Given the description of an element on the screen output the (x, y) to click on. 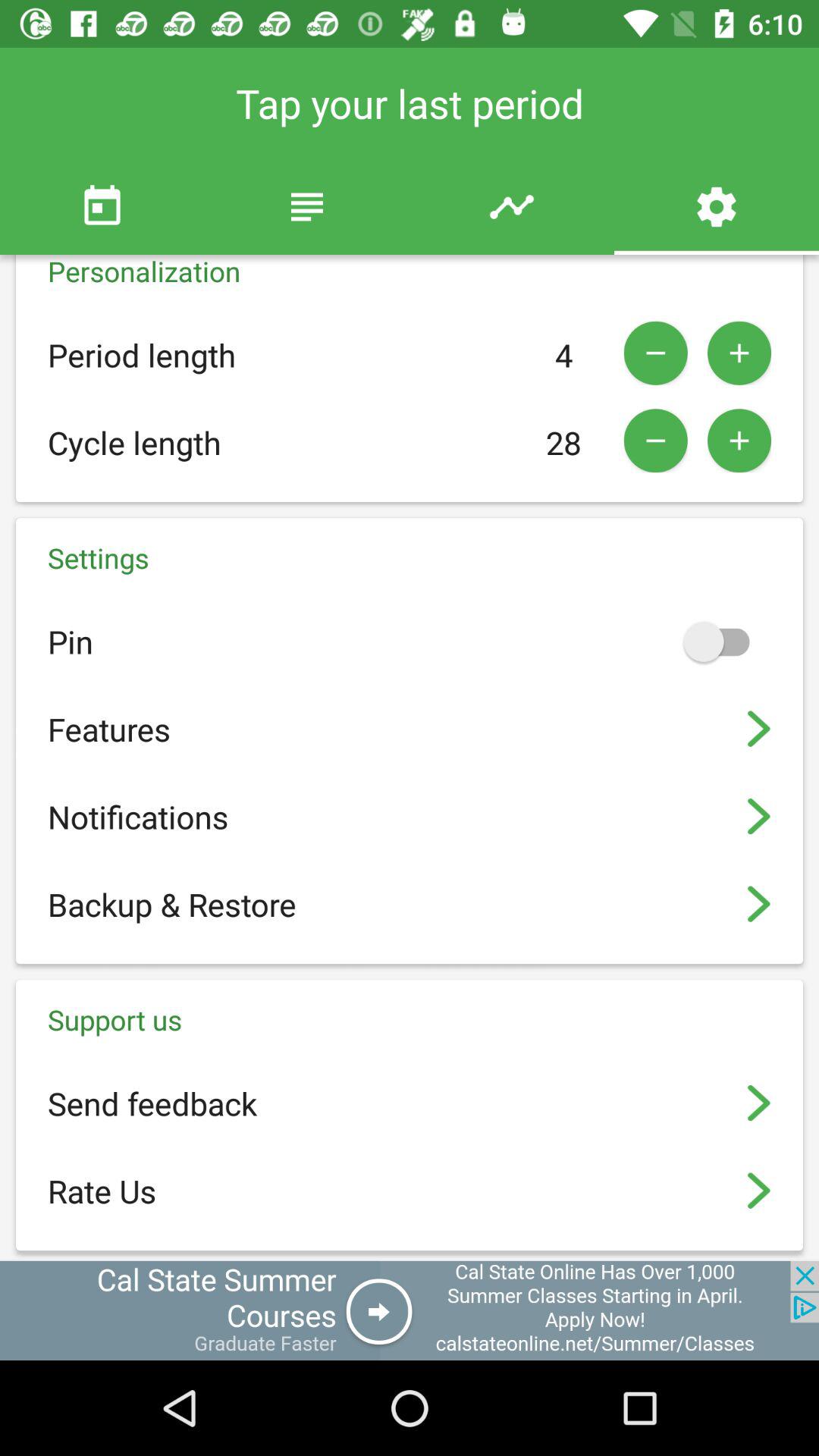
select the first right scroll button (759, 728)
select the settings block (409, 740)
click the third right scroll which is right side of backup  restore (759, 903)
